Given the description of an element on the screen output the (x, y) to click on. 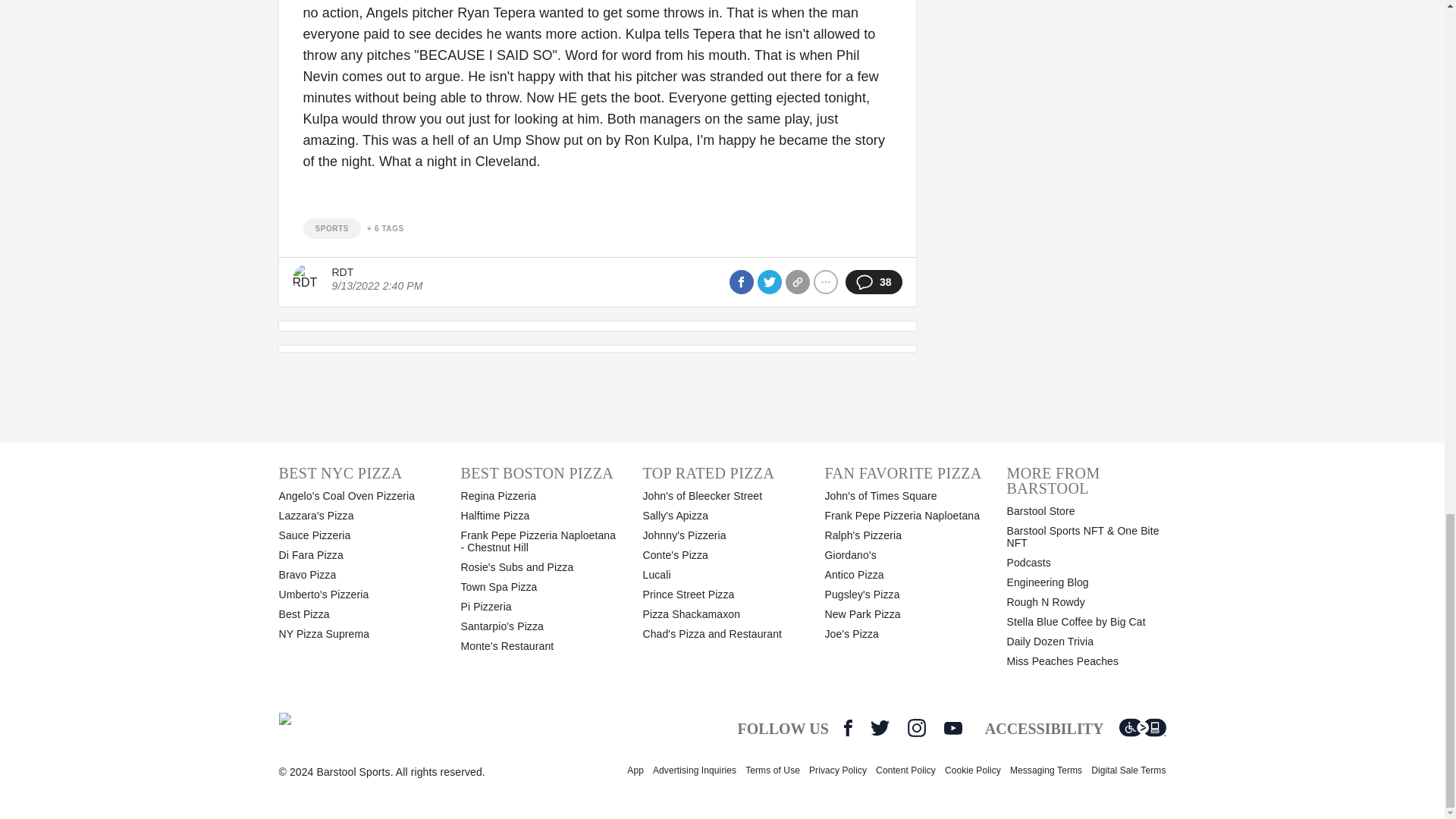
Twitter Icon (879, 728)
Level Access website accessibility icon (1142, 727)
YouTube Icon (952, 728)
Instagram Icon (916, 728)
